Given the description of an element on the screen output the (x, y) to click on. 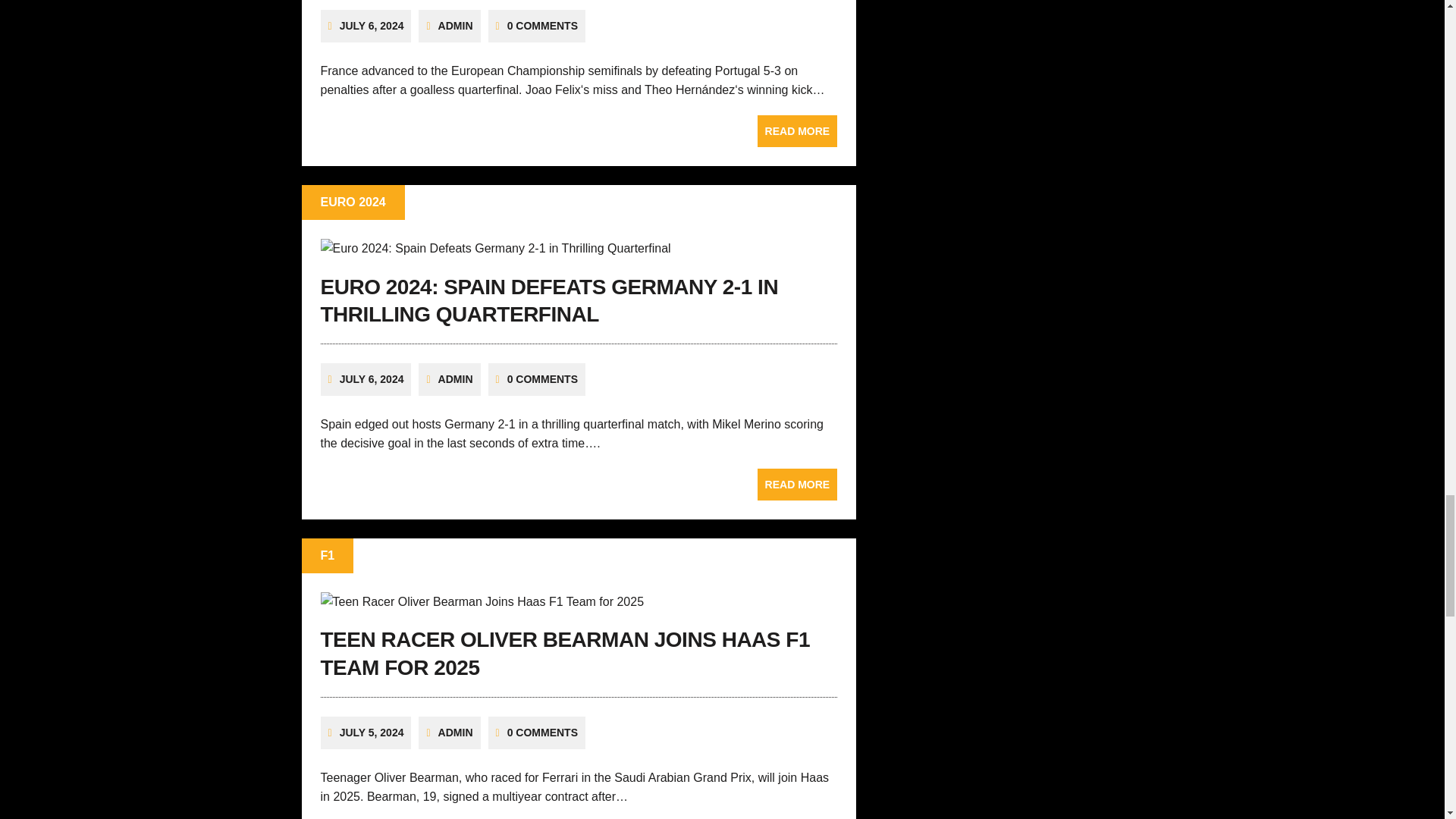
ADMIN (455, 25)
READ MORE (797, 131)
JULY 6, 2024 (371, 25)
